Given the description of an element on the screen output the (x, y) to click on. 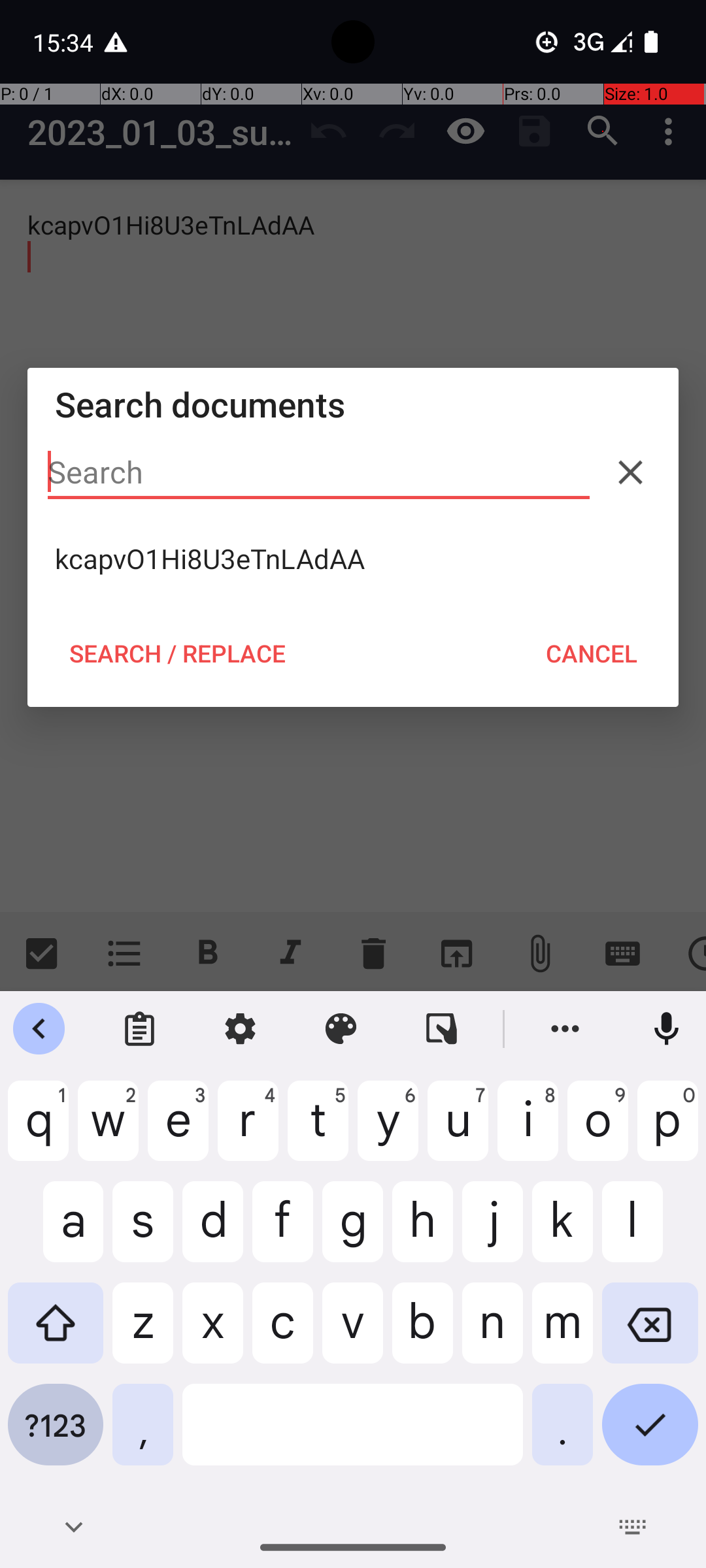
Search documents Element type: android.widget.TextView (352, 403)
kcapvO1Hi8U3eTnLAdAA Element type: android.widget.TextView (352, 558)
SEARCH / REPLACE Element type: android.widget.Button (176, 652)
